Given the description of an element on the screen output the (x, y) to click on. 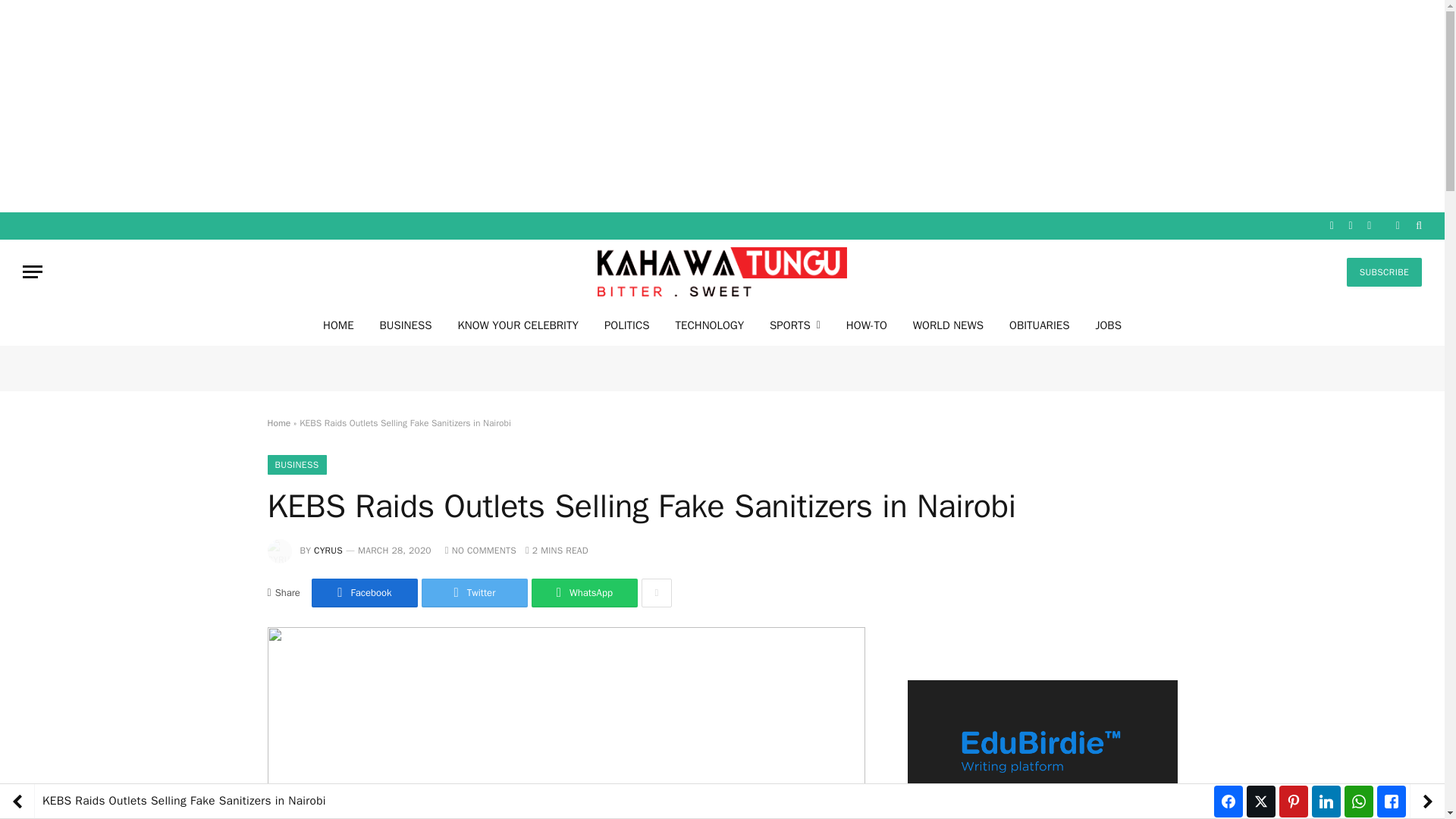
BUSINESS (296, 465)
SUBSCRIBE (1384, 271)
TECHNOLOGY (709, 324)
WORLD NEWS (947, 324)
BUSINESS (405, 324)
HOW-TO (865, 324)
HOME (338, 324)
SPORTS (794, 324)
POLITICS (626, 324)
Share on WhatsApp (584, 592)
